Given the description of an element on the screen output the (x, y) to click on. 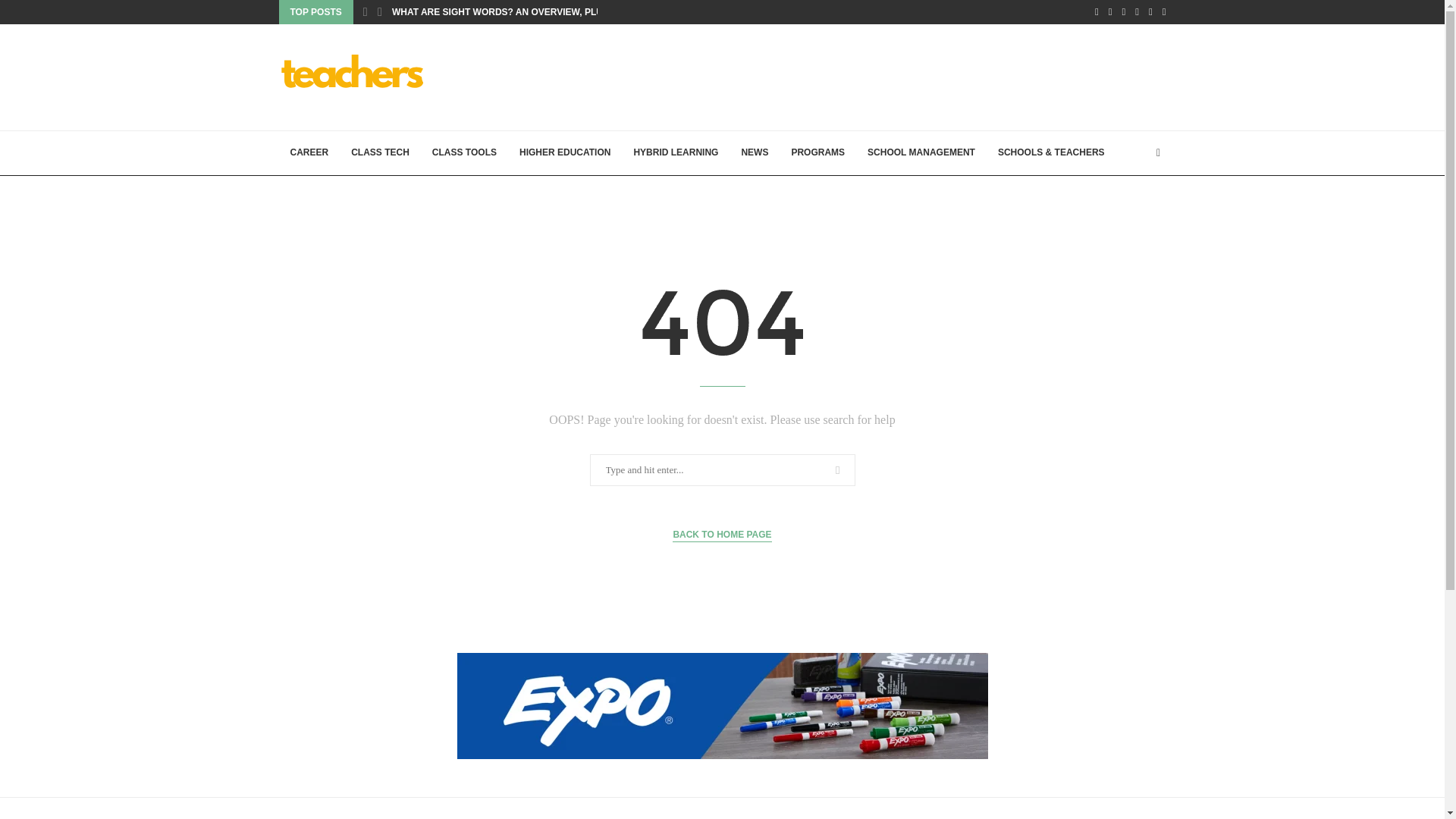
PROGRAMS (817, 153)
WHAT ARE SIGHT WORDS? AN OVERVIEW, PLUS TEACHING... (528, 12)
CLASS TOOLS (464, 153)
NEWS (753, 153)
CLASS TECH (379, 153)
CAREER (309, 153)
HIGHER EDUCATION (564, 153)
SCHOOL MANAGEMENT (921, 153)
HYBRID LEARNING (675, 153)
